Given the description of an element on the screen output the (x, y) to click on. 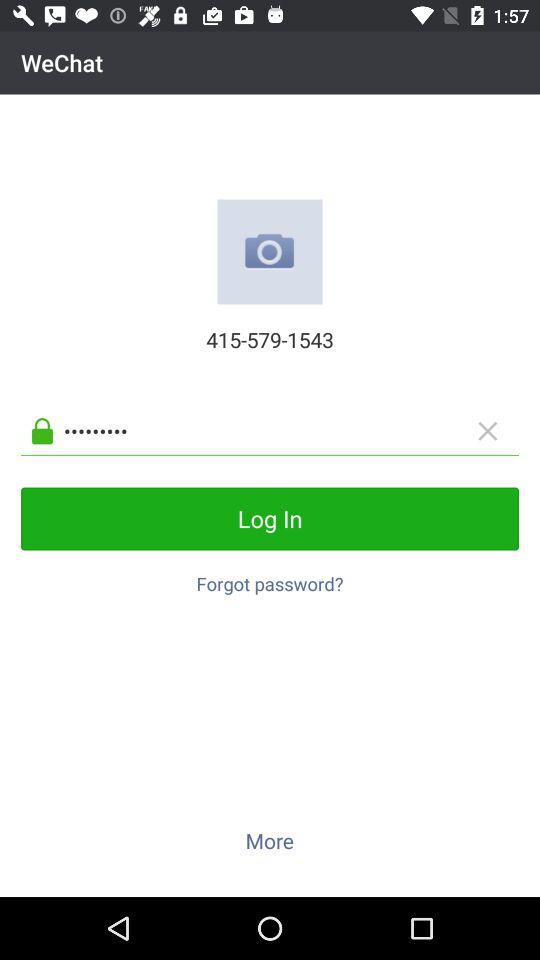
turn on button below the log in item (269, 578)
